Given the description of an element on the screen output the (x, y) to click on. 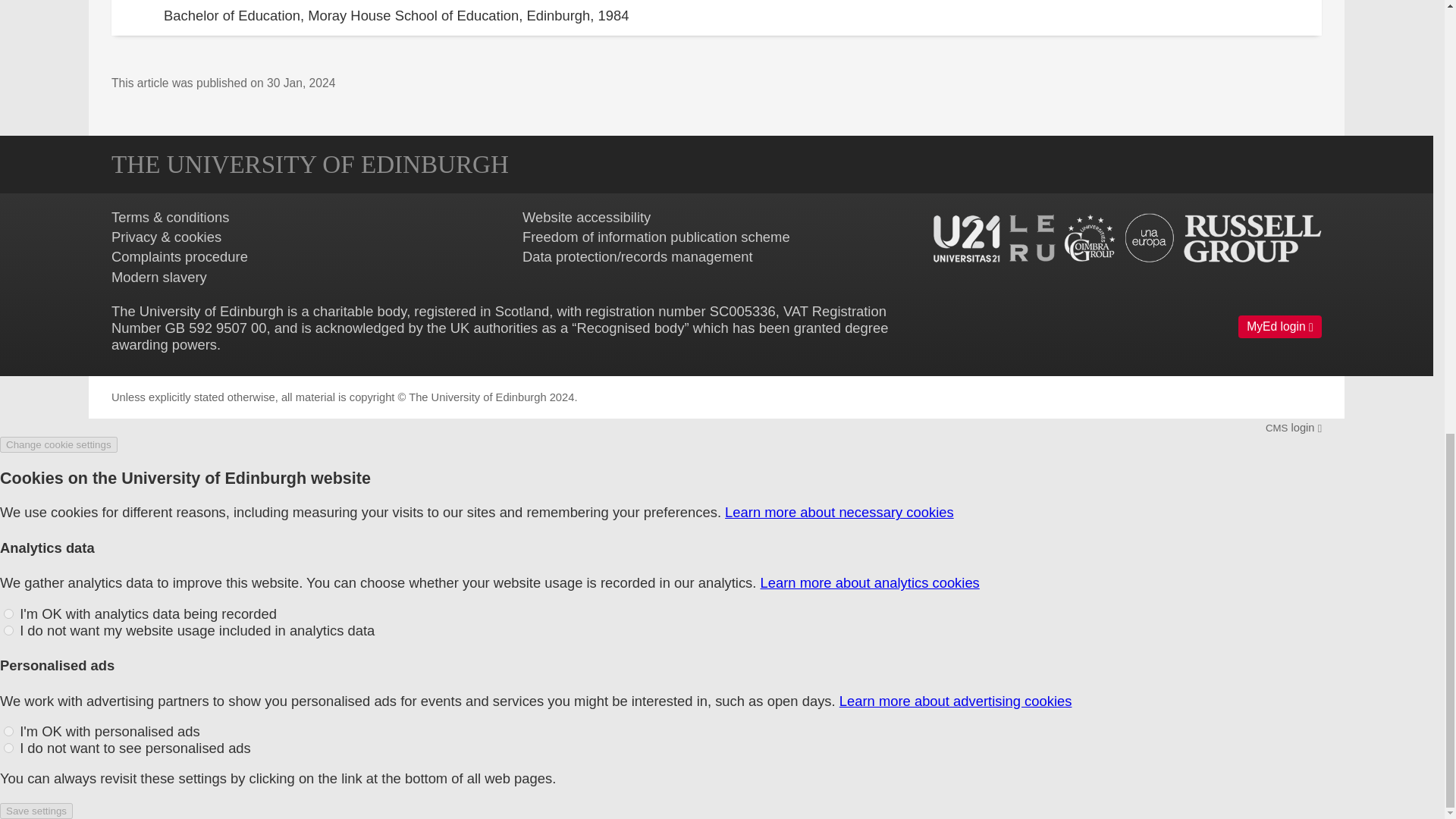
Complaints procedure (179, 256)
MyEd login (1280, 326)
Freedom of information publication scheme (656, 236)
CMS login (1293, 427)
Modern slavery (159, 277)
Recognised body (630, 327)
Website accessibility (586, 217)
